Given the description of an element on the screen output the (x, y) to click on. 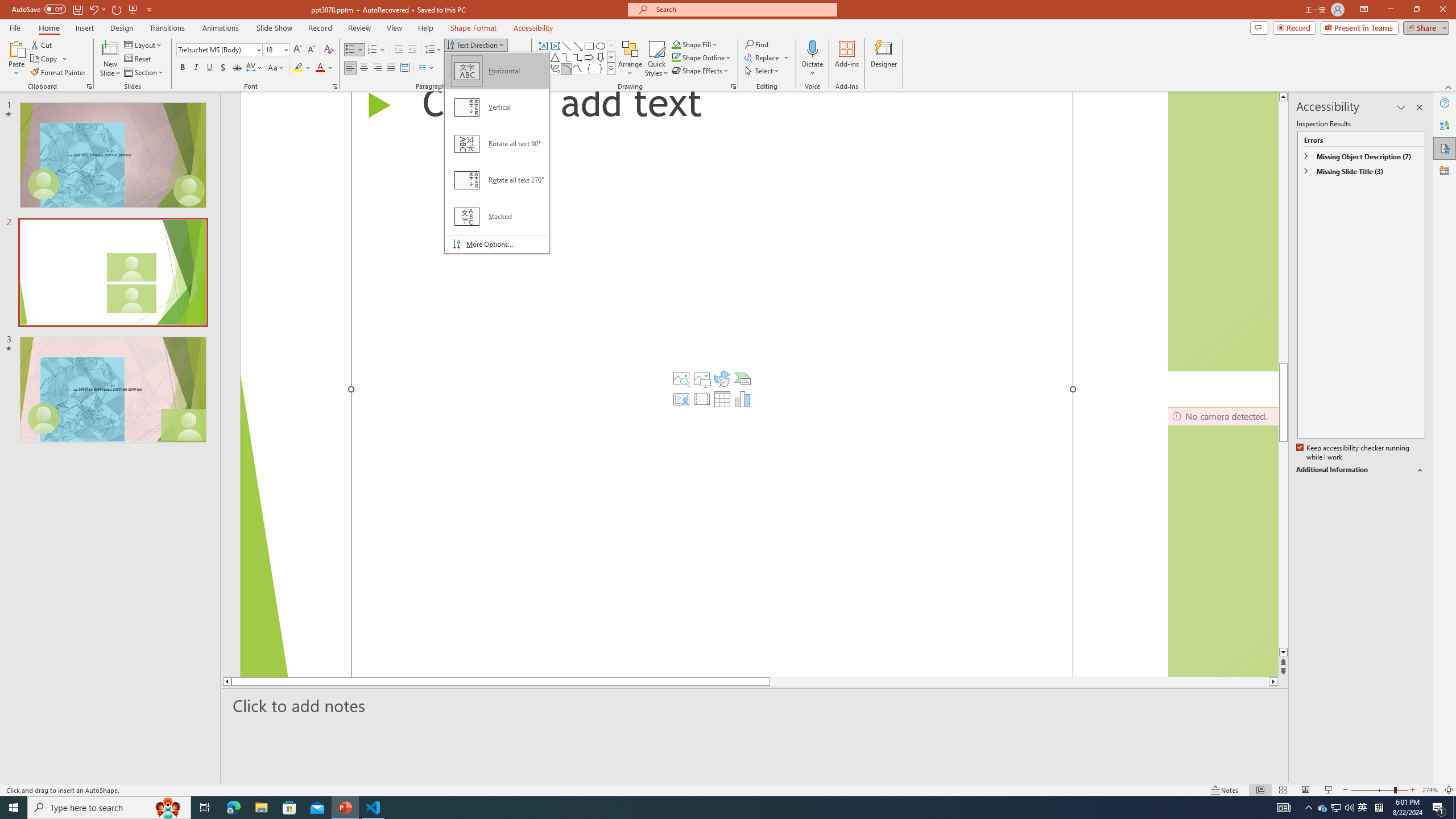
Shape Fill Dark Green, Accent 2 (675, 44)
Zoom 274% (1430, 790)
Stock Images (681, 378)
